Given the description of an element on the screen output the (x, y) to click on. 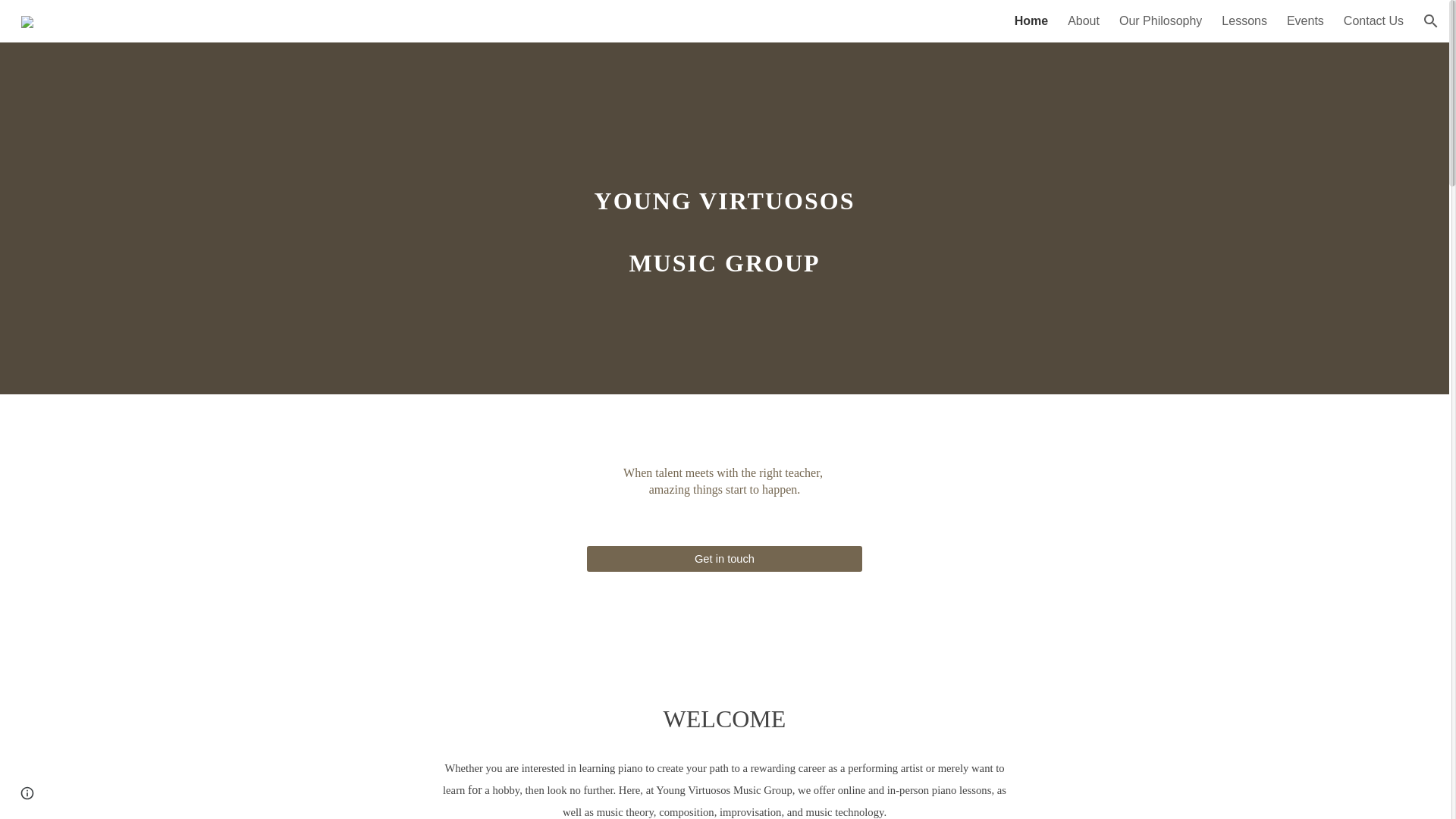
Home (1031, 20)
Lessons (1243, 20)
Our Philosophy (1160, 20)
Get in touch (723, 558)
Events (1305, 20)
About (1083, 20)
Contact Us (1373, 20)
